Given the description of an element on the screen output the (x, y) to click on. 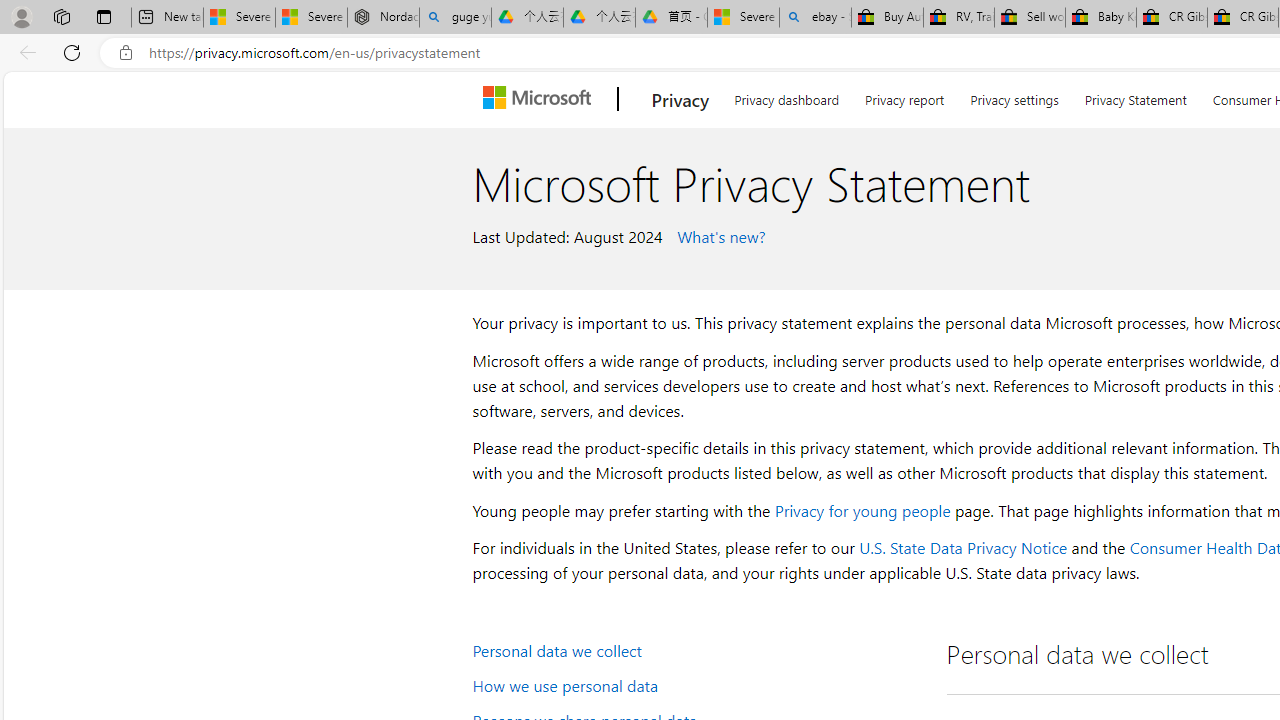
Privacy Statement (1135, 96)
Privacy for young people (862, 509)
 What's new? (718, 235)
How we use personal data (696, 684)
